Given the description of an element on the screen output the (x, y) to click on. 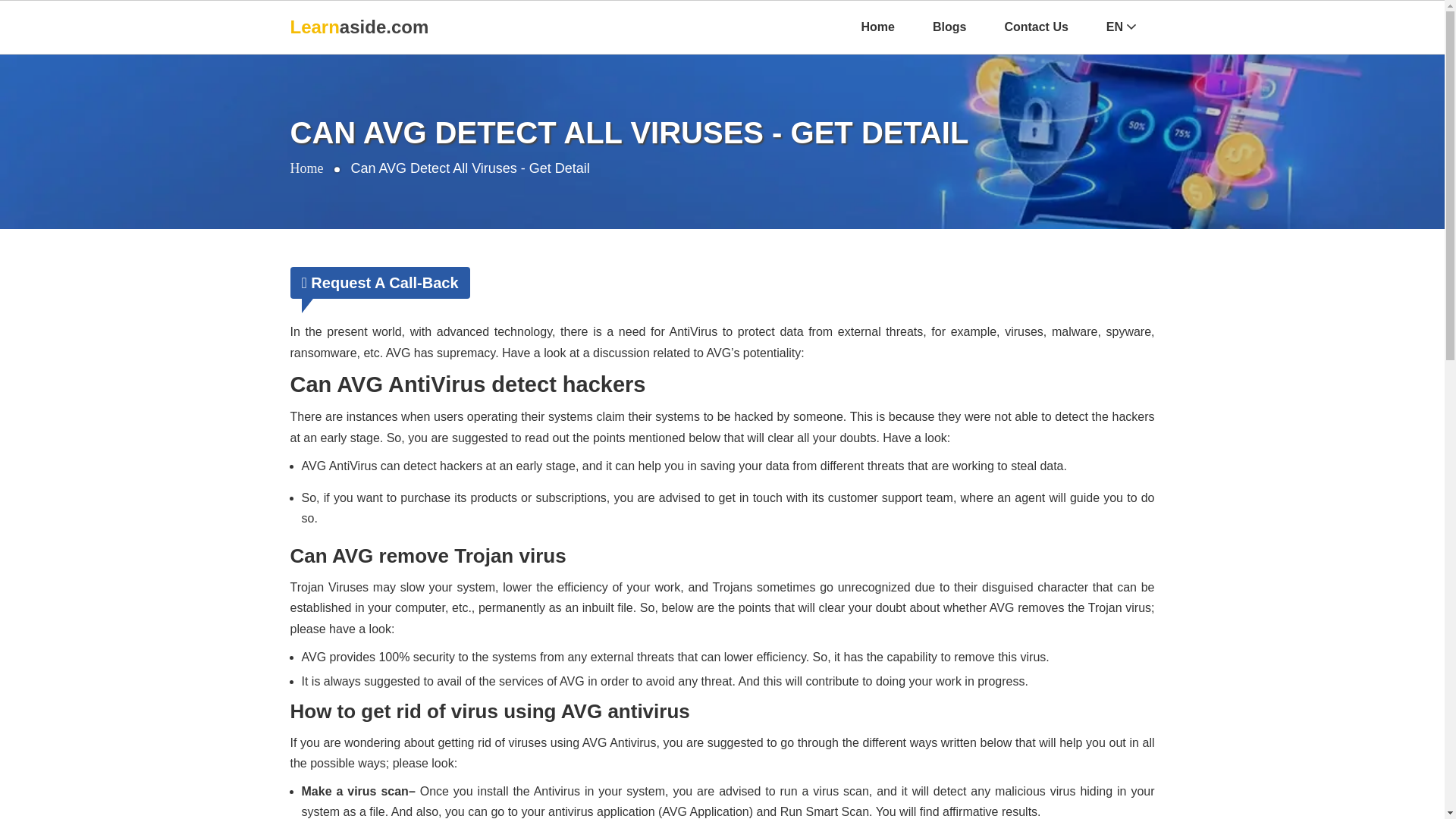
Home (306, 169)
Learnaside.com (358, 27)
Blogs (949, 27)
Home (876, 27)
EN (1120, 27)
Contact Us (1035, 27)
Request A Call-Back (378, 282)
